Given the description of an element on the screen output the (x, y) to click on. 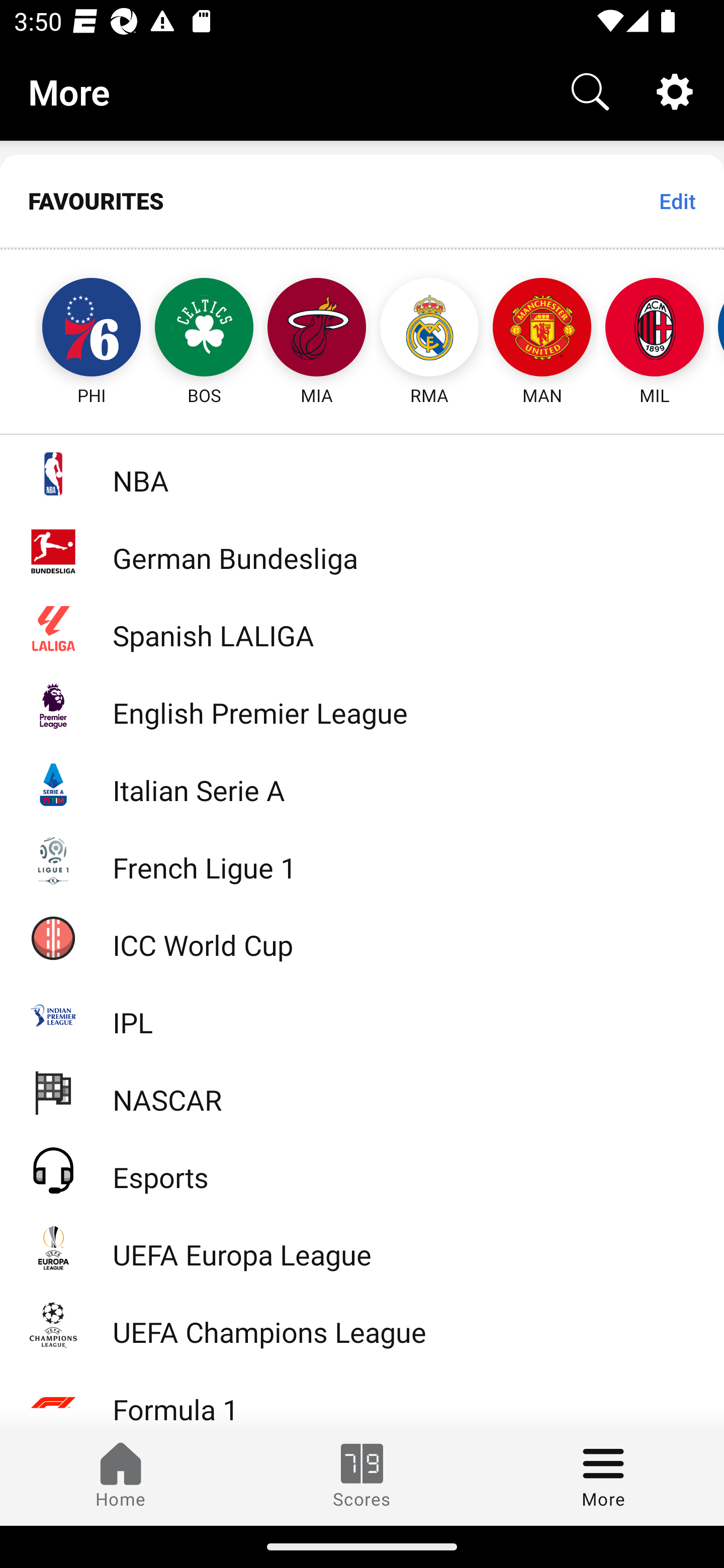
Search (590, 90)
Settings (674, 90)
Edit (676, 200)
PHI Philadelphia 76ers (73, 328)
BOS Boston Celtics (203, 328)
MIA Miami Heat (316, 328)
RMA Real Madrid (428, 328)
MAN Manchester United (541, 328)
MIL AC Milan (654, 328)
NBA (362, 473)
German Bundesliga (362, 550)
Spanish LALIGA (362, 627)
English Premier League (362, 705)
Italian Serie A (362, 782)
French Ligue 1 (362, 859)
ICC World Cup (362, 937)
IPL (362, 1014)
NASCAR (362, 1091)
Esports (362, 1169)
UEFA Europa League (362, 1246)
UEFA Champions League (362, 1324)
Home (120, 1475)
Scores (361, 1475)
